Given the description of an element on the screen output the (x, y) to click on. 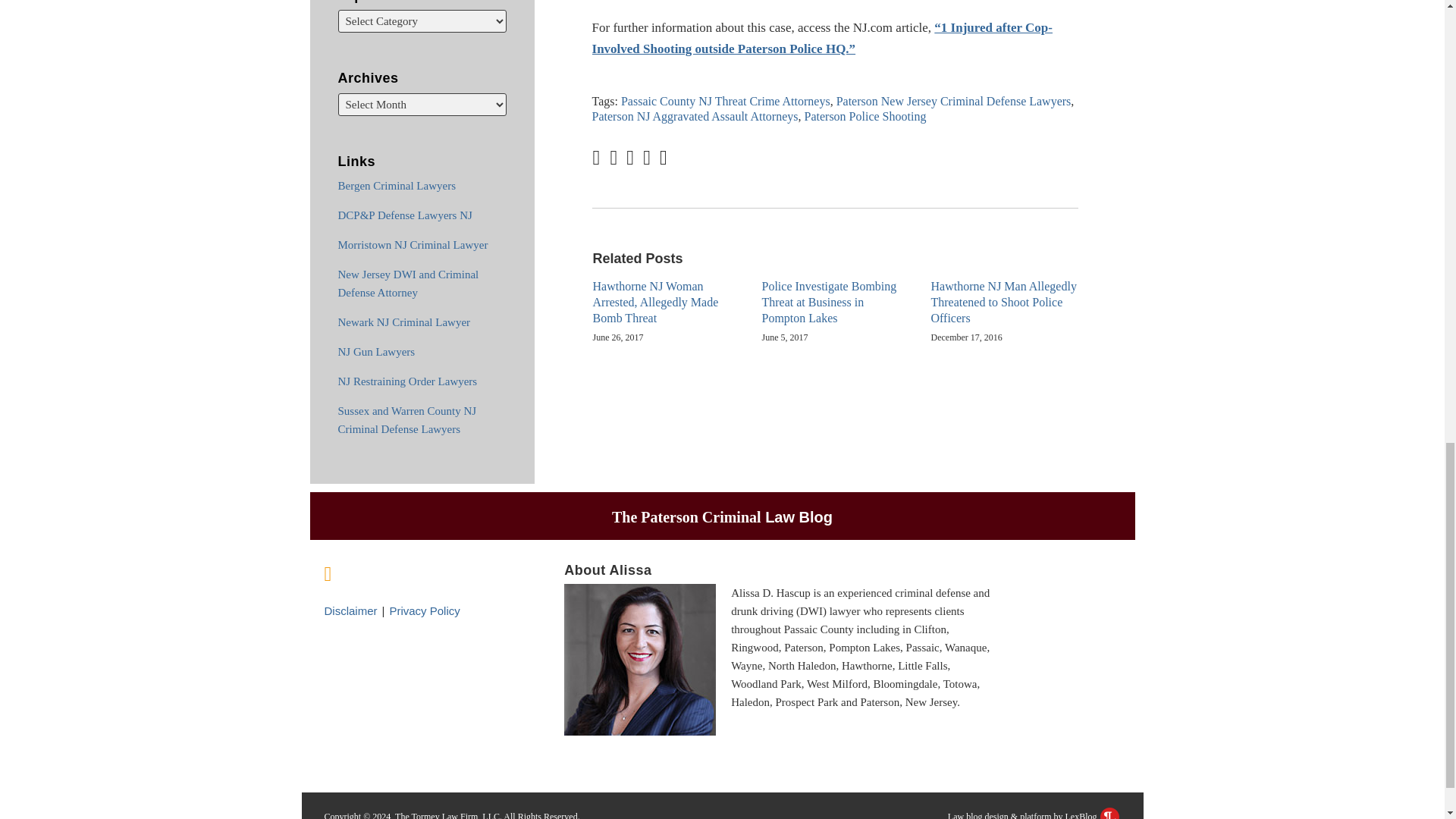
Hawthorne NJ Woman Arrested, Allegedly Made Bomb Threat (665, 302)
Paterson Police Shooting (864, 115)
Sussex and Warren County Criminal Defense Attorneys (407, 419)
Sussex and Warren County NJ Criminal Defense Lawyers (407, 419)
Paterson New Jersey Criminal Defense Lawyers (953, 101)
Paterson NJ Aggravated Assault Attorneys (694, 115)
NJ Gun Lawyers (375, 351)
Morristown NJ Criminal Lawyer (412, 244)
Bergen Criminal Lawyers (397, 185)
